Given the description of an element on the screen output the (x, y) to click on. 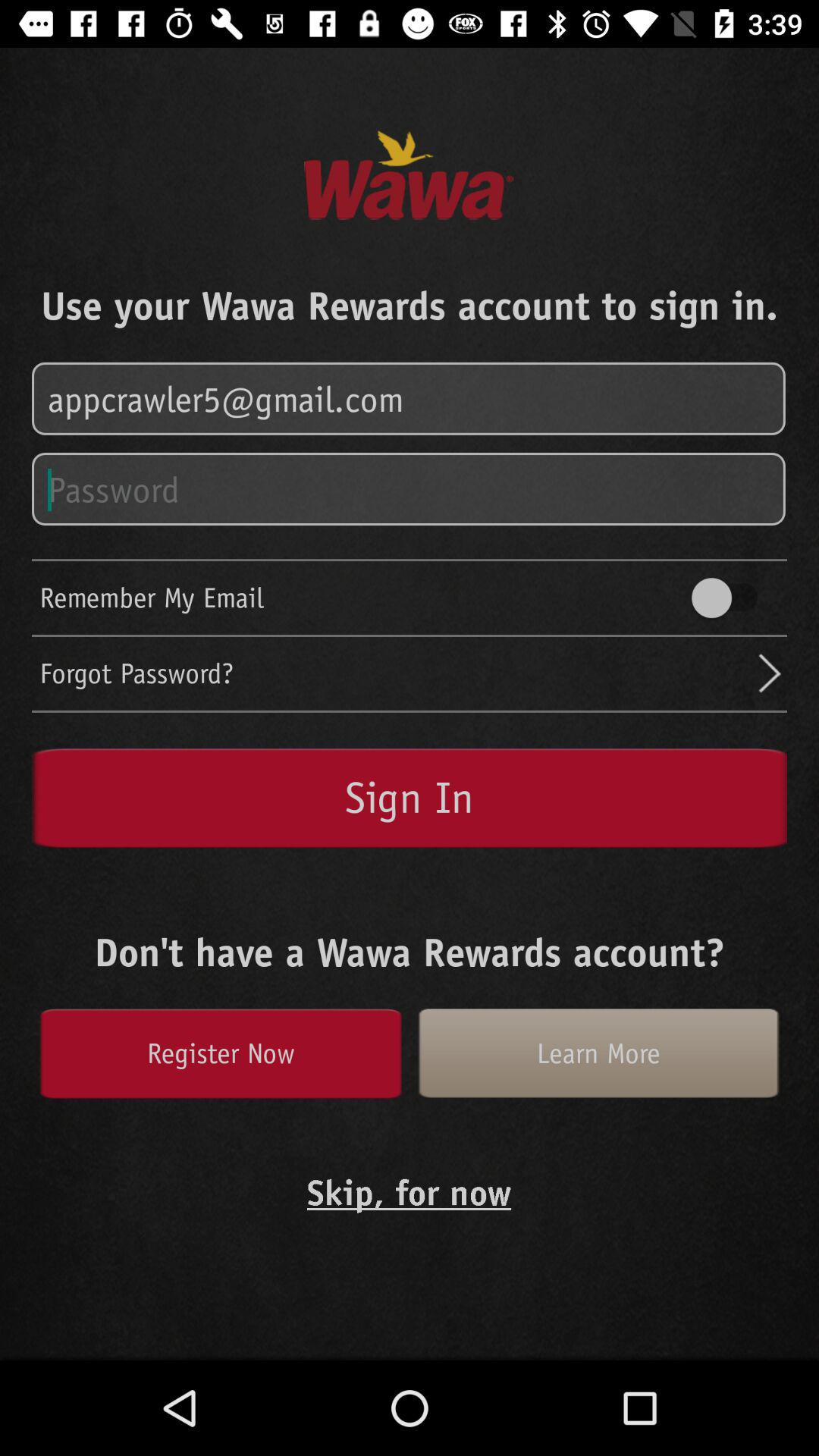
select the text wawa which is in the middle of page (409, 176)
click on the text which says skipfor now which is at the bottom (409, 1192)
select the switch which is right to text remember my email (731, 597)
select next button which is above sign in button on the page (770, 673)
go to password (409, 489)
click on log in (409, 399)
select sign in button on the page (409, 797)
